Given the description of an element on the screen output the (x, y) to click on. 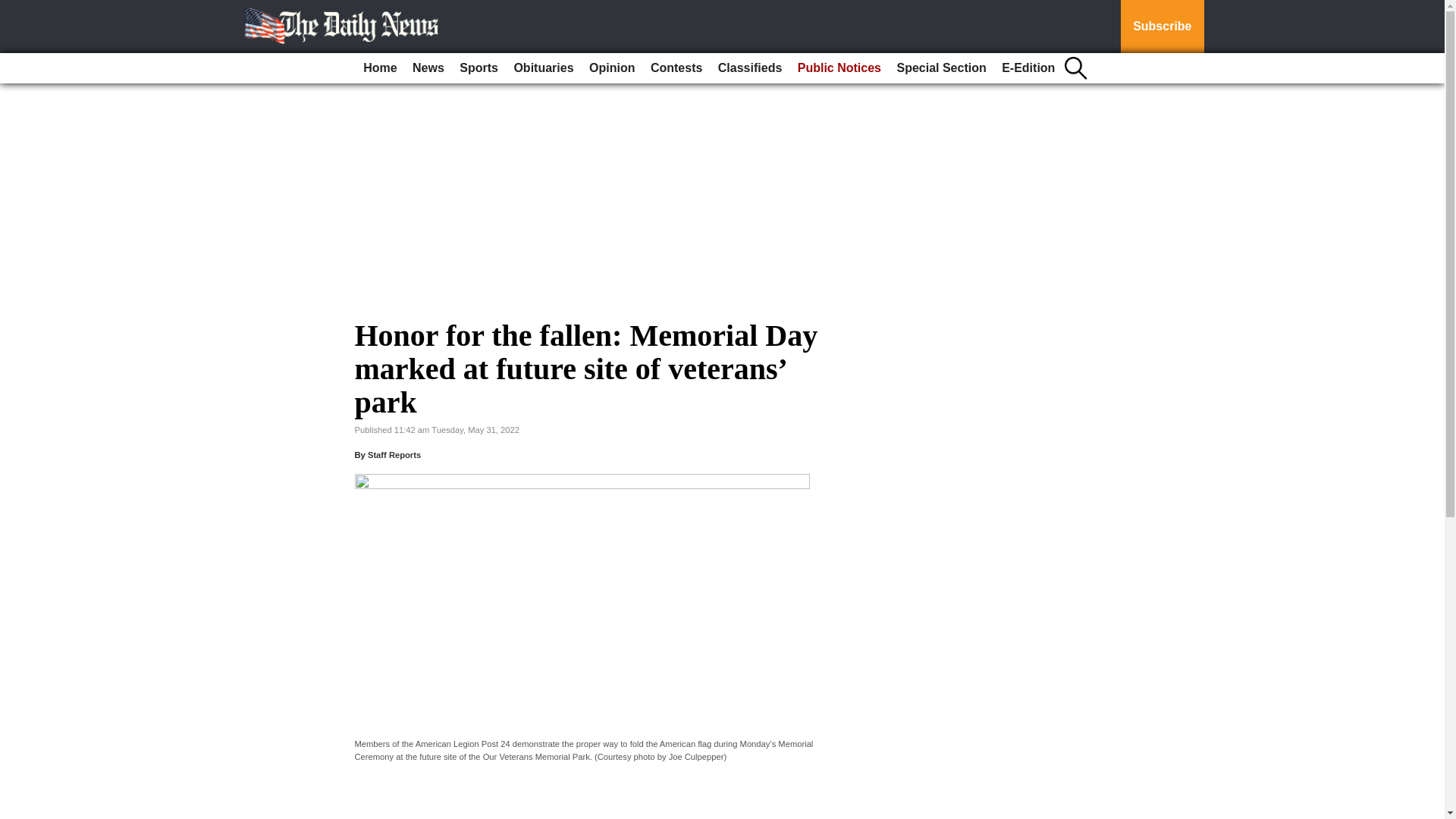
Sports (477, 68)
News (427, 68)
E-Edition (1028, 68)
Home (379, 68)
Public Notices (839, 68)
Subscribe (1162, 26)
Obituaries (542, 68)
Contests (676, 68)
Go (13, 9)
Staff Reports (394, 454)
